Given the description of an element on the screen output the (x, y) to click on. 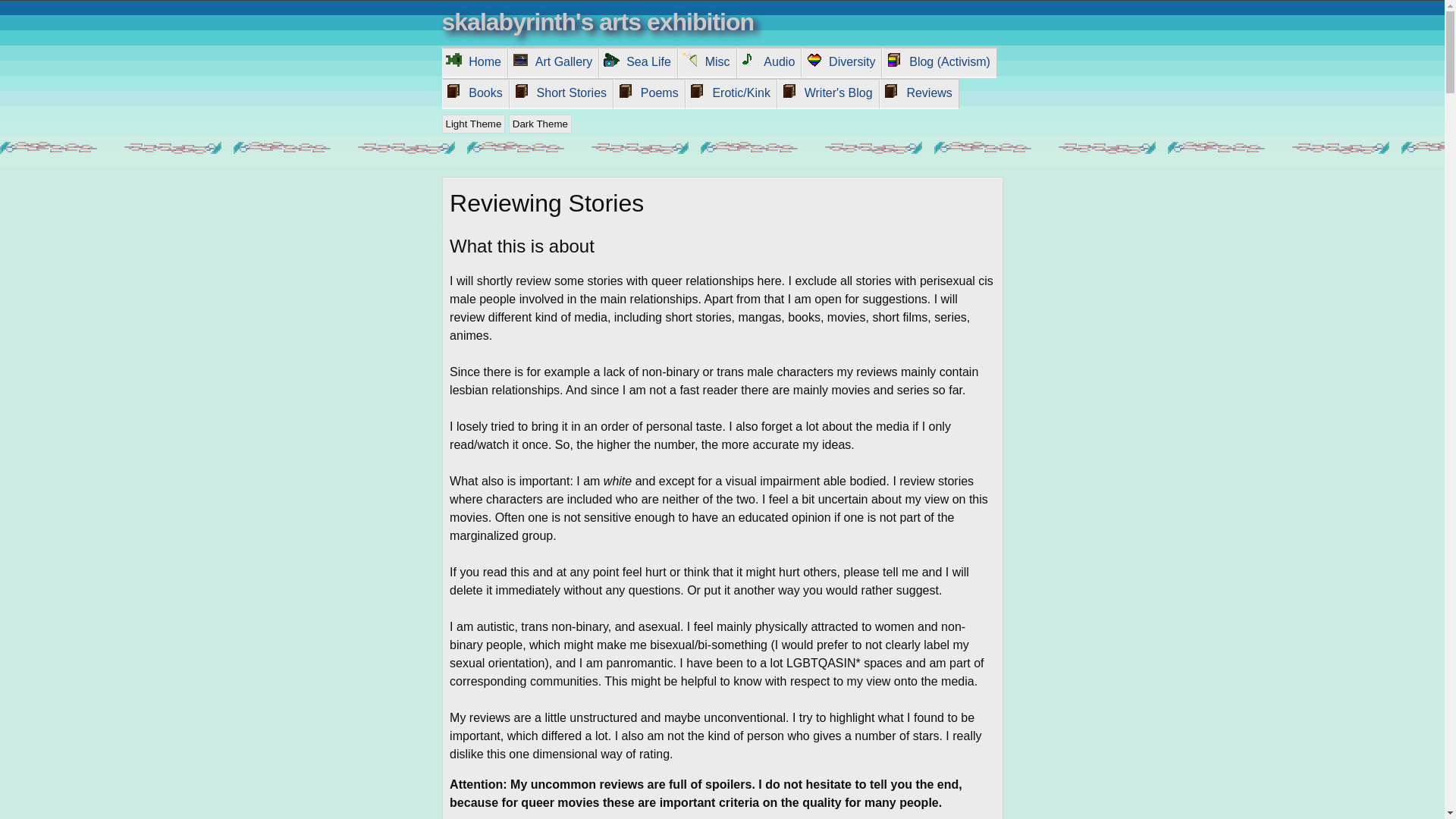
Sea Life (637, 61)
Audio (767, 61)
Misc (706, 61)
Home (472, 61)
Art Gallery (552, 61)
